Given the description of an element on the screen output the (x, y) to click on. 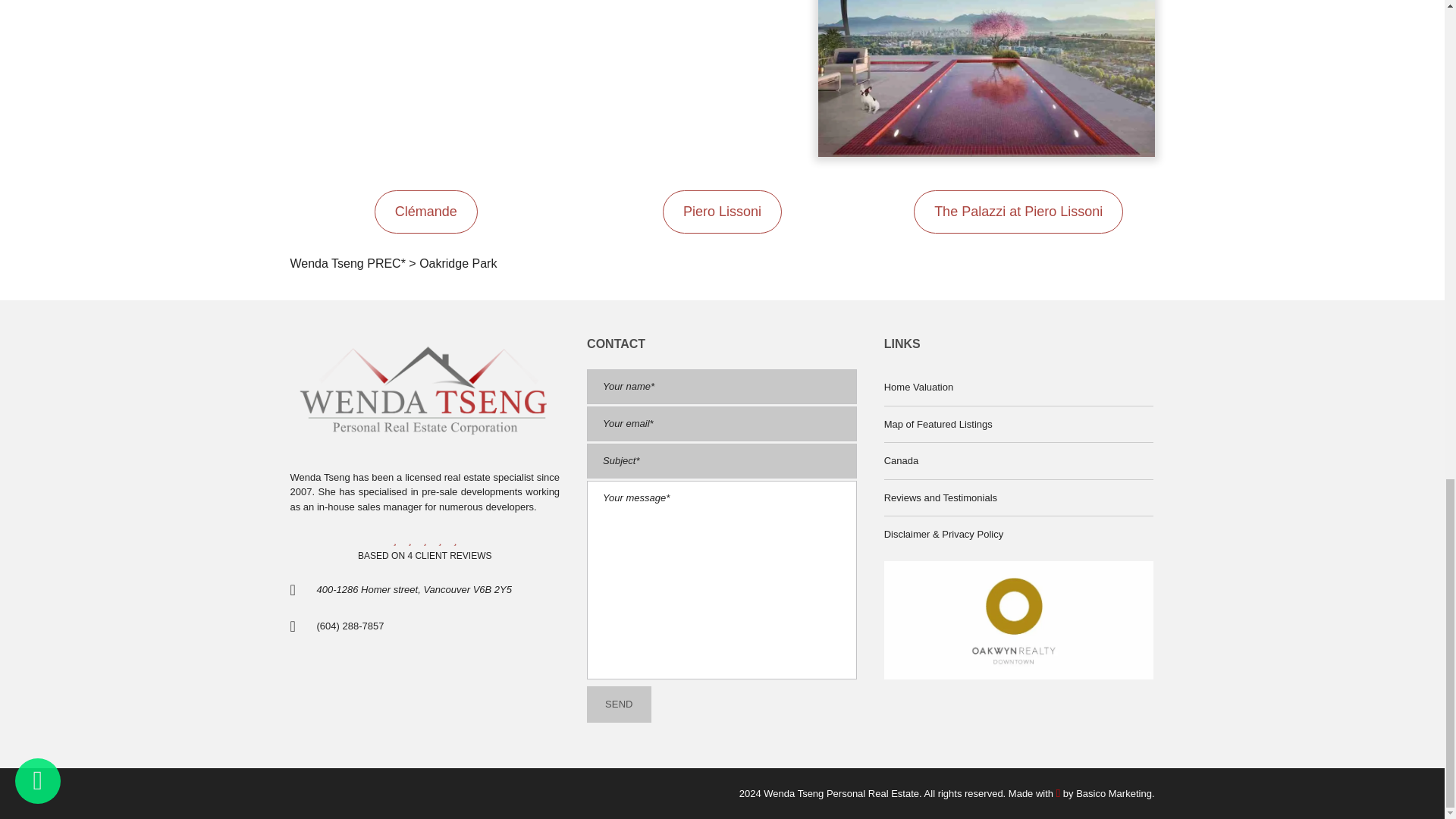
Piero Lissoni (721, 211)
gorgeous (454, 540)
Apartment for Sale Vancouver (840, 793)
gorgeous (408, 540)
gorgeous (424, 540)
gorgeous (394, 540)
Reviews (425, 555)
Digital Strategy Basico Marketing (1113, 793)
The Palazzi at Piero Lissoni (1018, 211)
gorgeous (424, 540)
gorgeous (439, 540)
BASED ON 4 CLIENT REVIEWS (425, 555)
Send (618, 704)
